Given the description of an element on the screen output the (x, y) to click on. 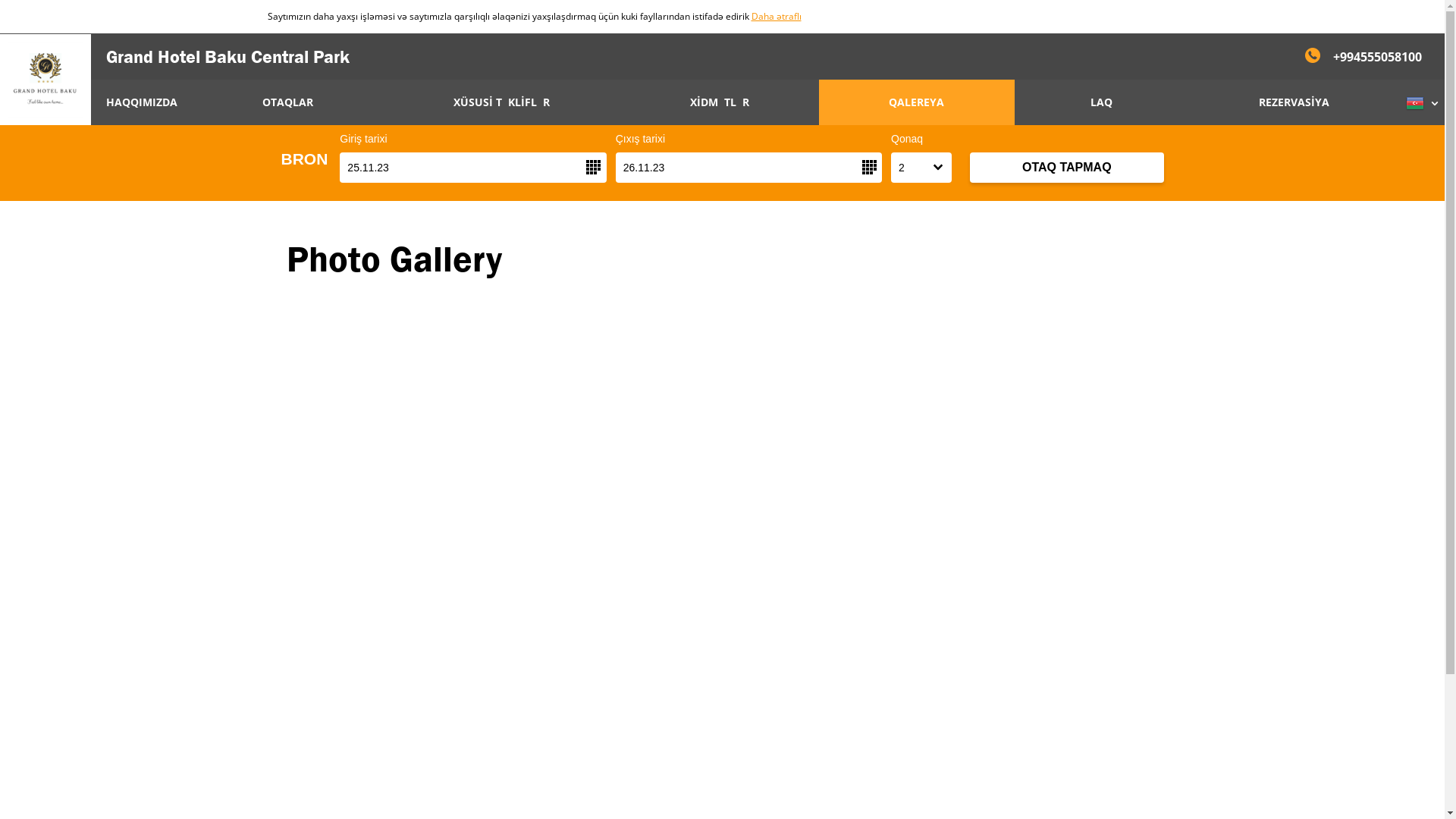
HAQQIMIZDA Element type: text (141, 102)
Grand Hotel Baku Central Park Element type: text (227, 56)
OTAQLAR Element type: text (287, 102)
+994555058100 Element type: text (1361, 56)
QALEREYA Element type: text (916, 102)
